Given the description of an element on the screen output the (x, y) to click on. 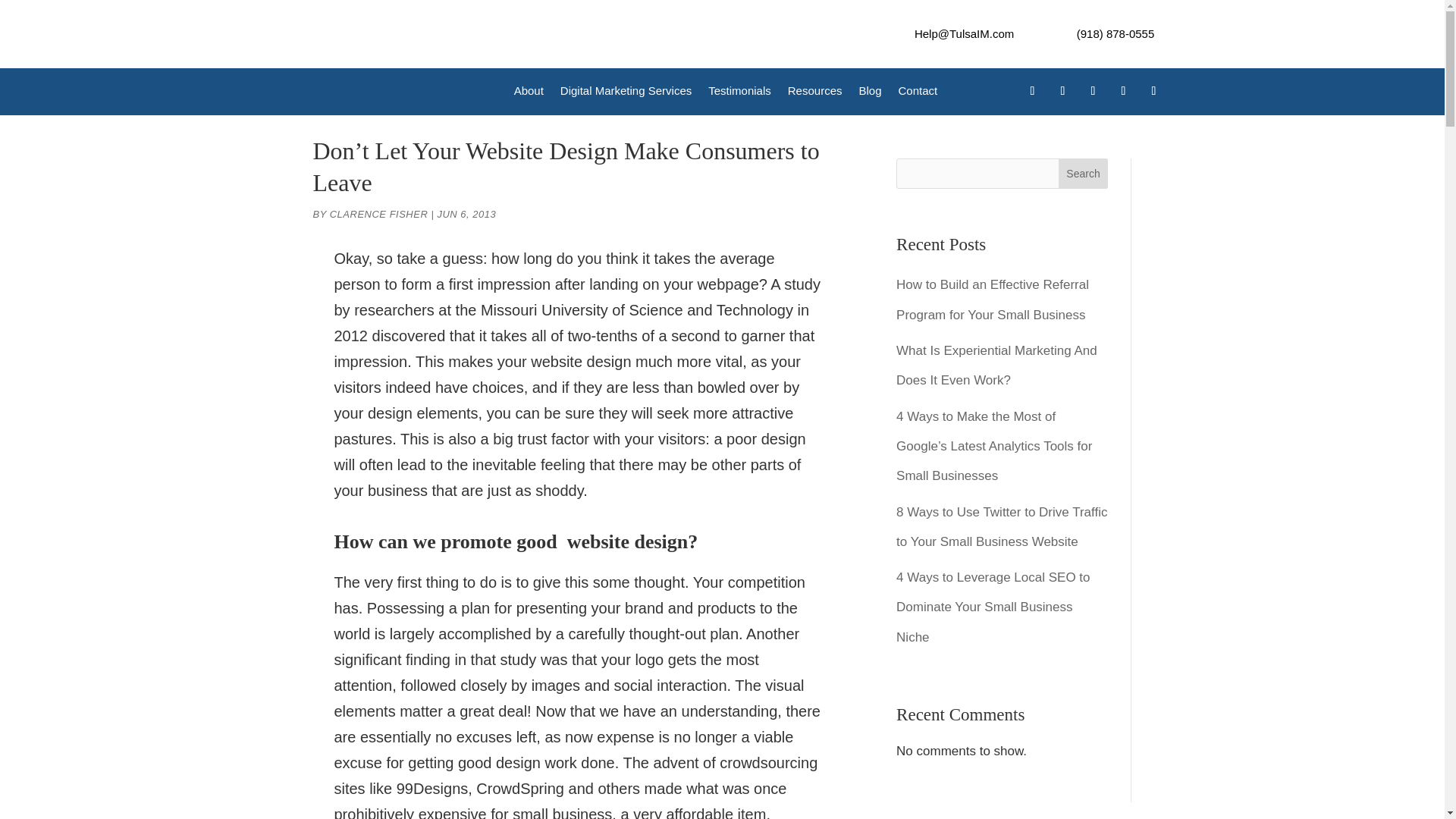
Follow on RSS (1153, 90)
Contact (917, 93)
Posts by Clarence Fisher (379, 214)
Follow on Facebook (1031, 90)
Follow on Youtube (1122, 90)
About (528, 93)
Follow on LinkedIn (1092, 90)
Search (1083, 173)
Testimonials (739, 93)
